Given the description of an element on the screen output the (x, y) to click on. 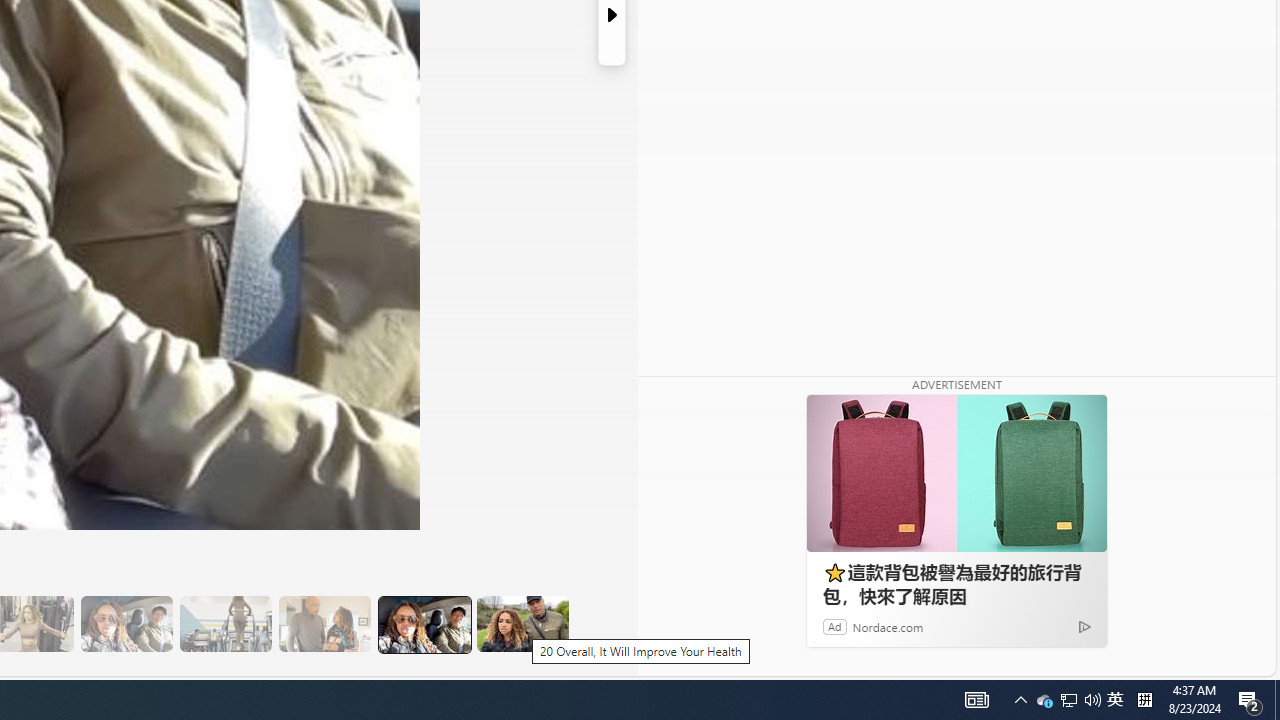
16 The Couple's Program Helps with Accountability (125, 624)
See more (741, 660)
19 It Also Simplifies Thiings (424, 624)
